Given the description of an element on the screen output the (x, y) to click on. 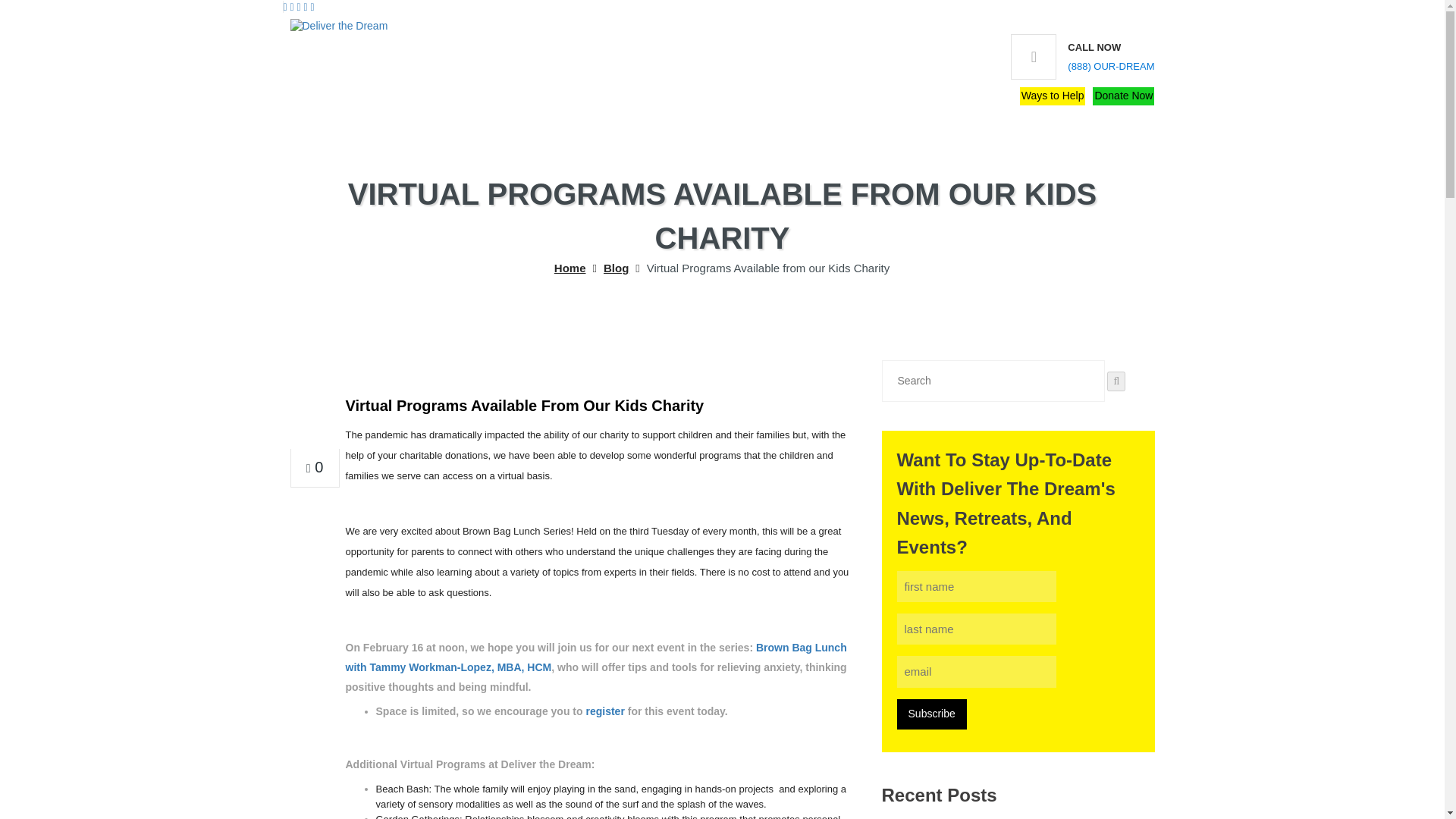
VOLUNTEER (567, 113)
Brown Bag Lunch with Tammy Workman-Lopez, MBA, HCM (596, 657)
Ways to Help (1053, 95)
Home (570, 268)
Subscribe (931, 714)
register (604, 711)
PROGRAMS (471, 113)
Garden Gatherings (417, 816)
ABOUT US (381, 113)
Brown Bag Lunch Series! (519, 530)
